Given the description of an element on the screen output the (x, y) to click on. 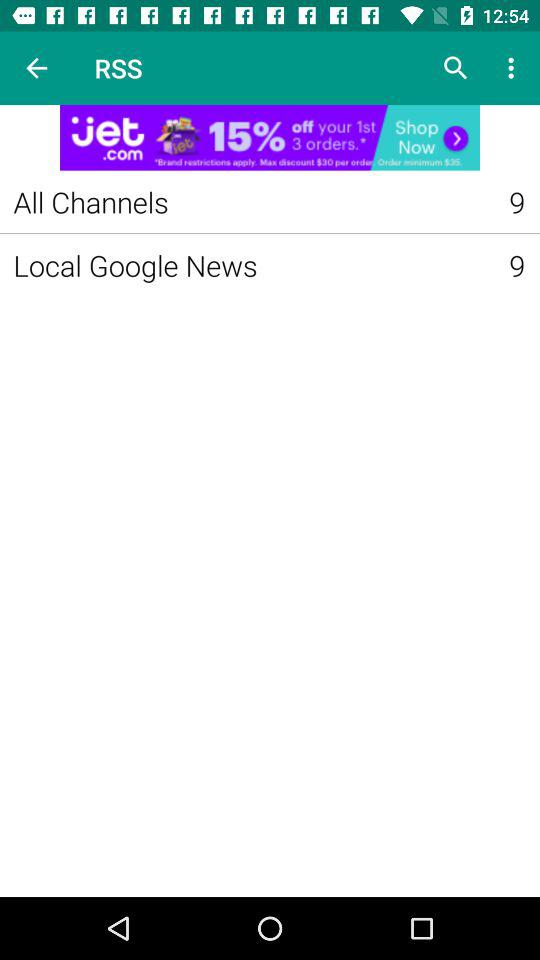
search (455, 67)
